Given the description of an element on the screen output the (x, y) to click on. 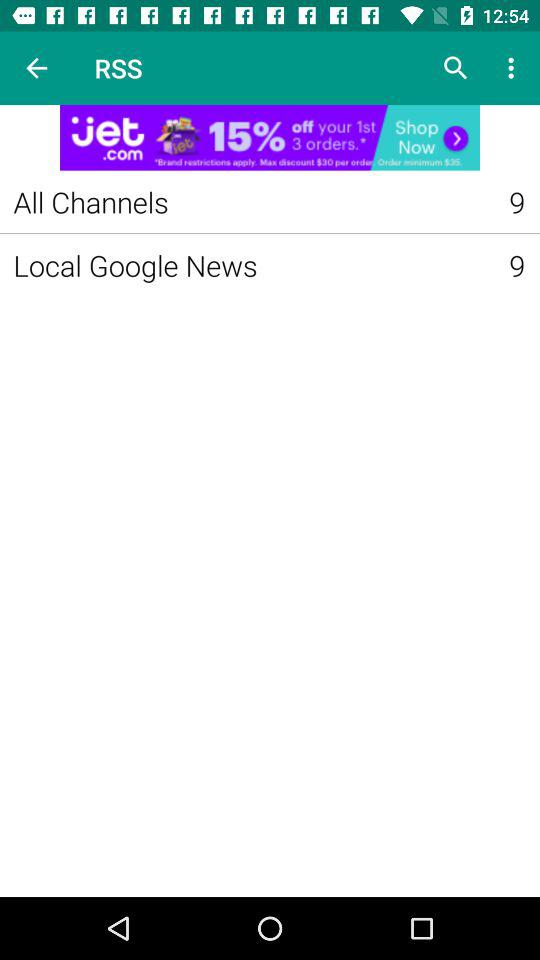
search (455, 67)
